Given the description of an element on the screen output the (x, y) to click on. 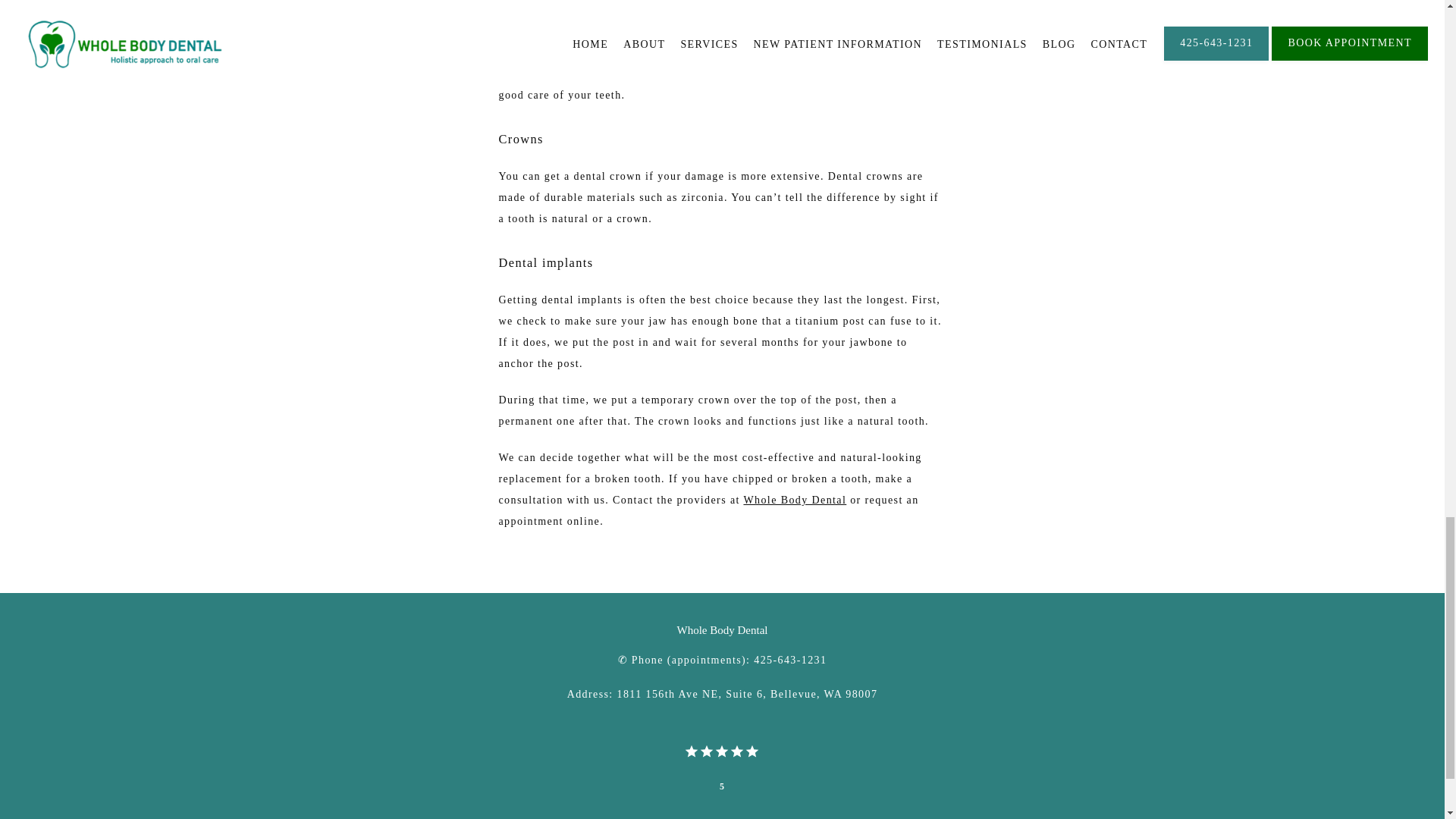
Whole Body Dental (793, 500)
